Given the description of an element on the screen output the (x, y) to click on. 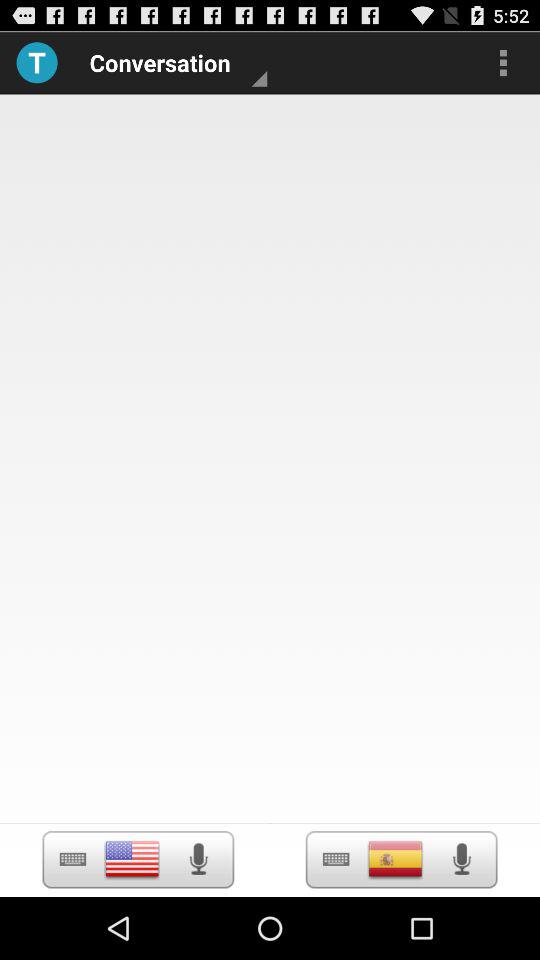
keyboard (72, 859)
